Given the description of an element on the screen output the (x, y) to click on. 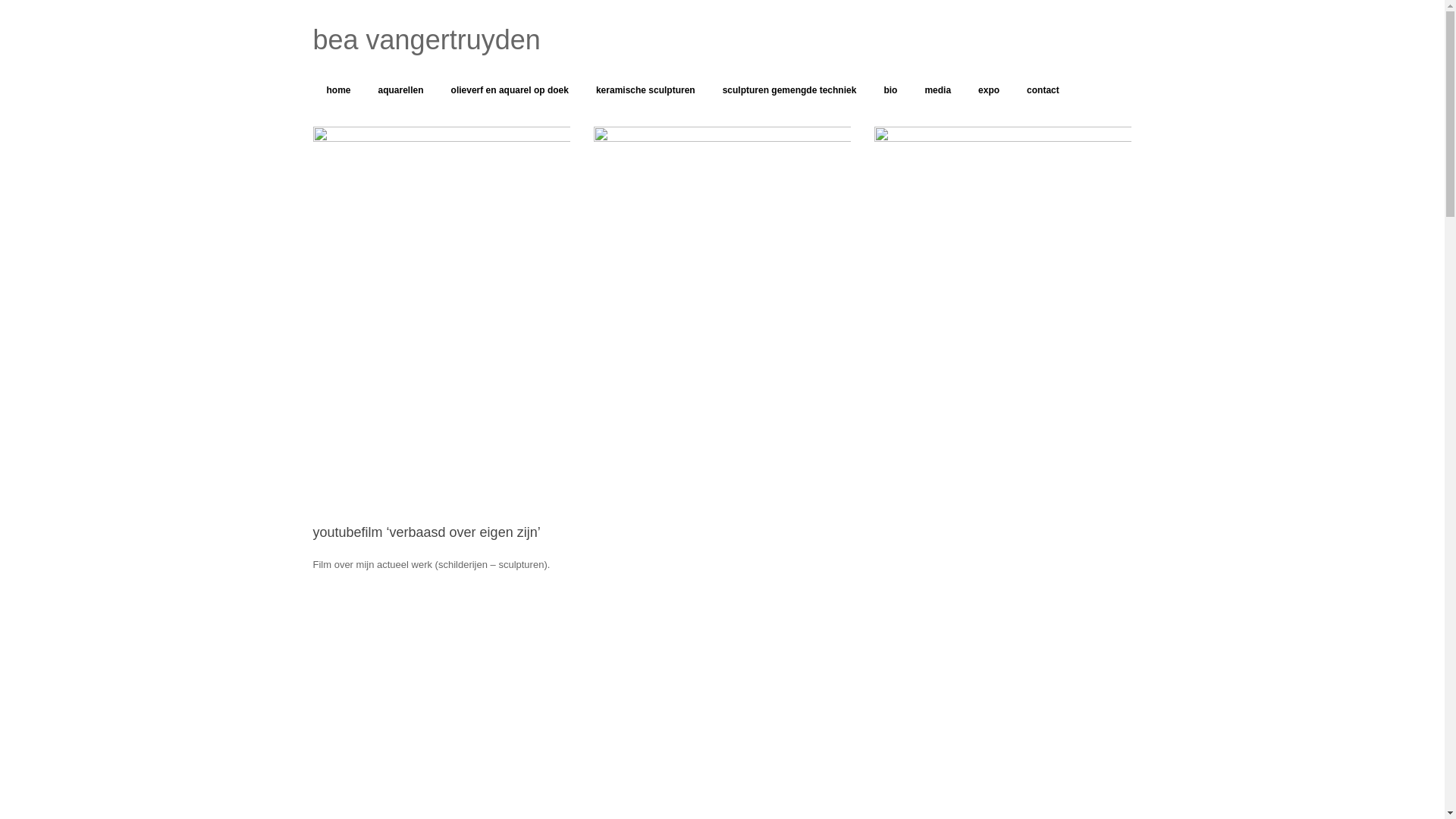
aquarel 90x120 cm Element type: hover (441, 310)
bio Element type: text (889, 90)
aquarellen Element type: text (400, 90)
sculpturen gemengde techniek Element type: text (789, 90)
bea vangertruyden Element type: text (425, 40)
media Element type: text (937, 90)
contact Element type: text (1043, 90)
keramische sculpturen Element type: text (645, 90)
olieverf en aquarel op doek Element type: text (509, 90)
home Element type: text (338, 90)
expo Element type: text (988, 90)
Spring naar inhoud Element type: text (0, 0)
